Given the description of an element on the screen output the (x, y) to click on. 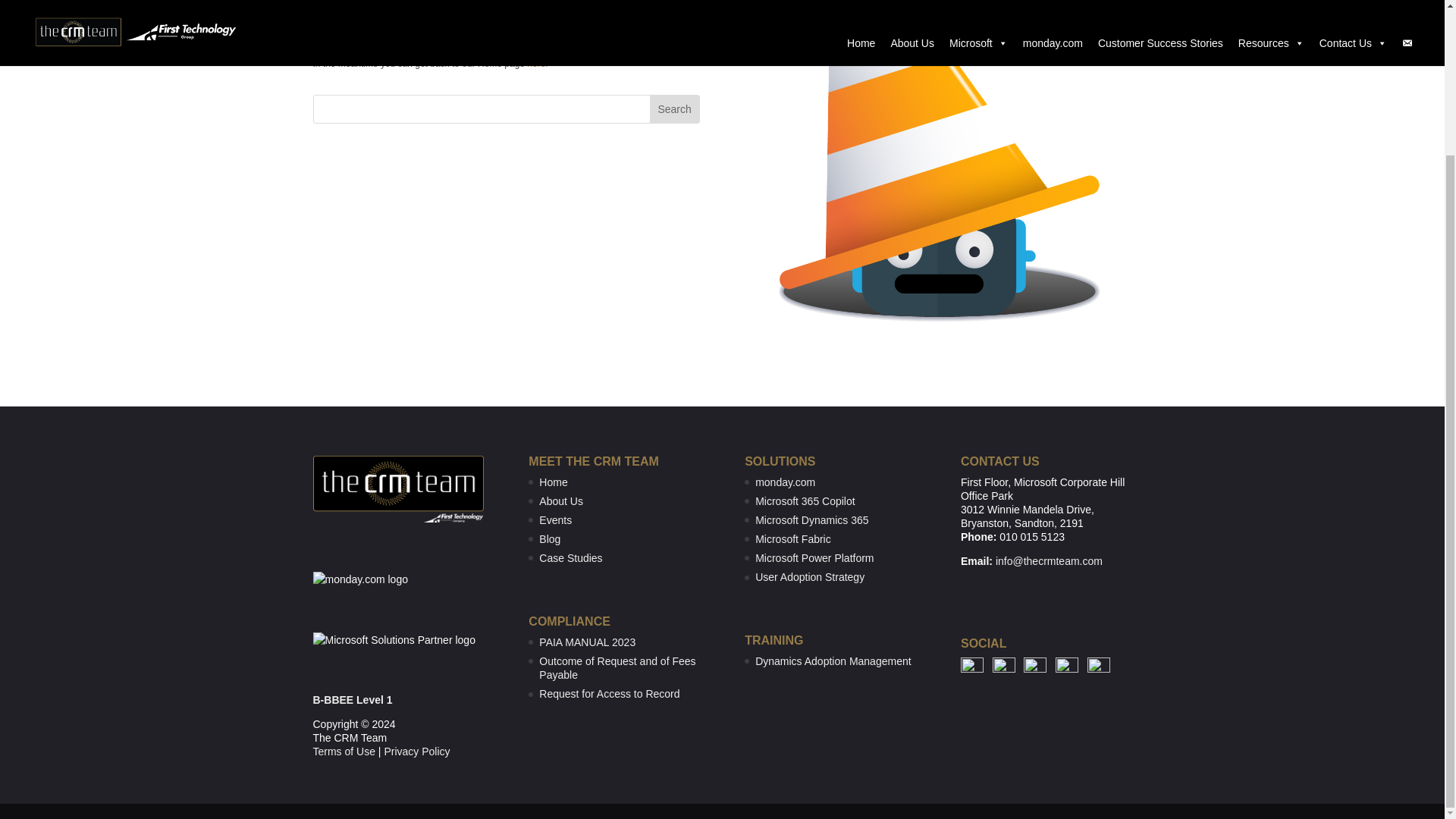
B-BBEE Level 1 (352, 699)
About Us (560, 500)
Search (673, 108)
Case Studies (570, 558)
PAIA MANUAL 2023 (586, 642)
here. (537, 63)
Events (555, 520)
Robot-guy (937, 172)
Search (673, 108)
Privacy Policy (416, 751)
Home (552, 481)
Terms of Use (343, 751)
Blog (549, 539)
Search (673, 108)
